Given the description of an element on the screen output the (x, y) to click on. 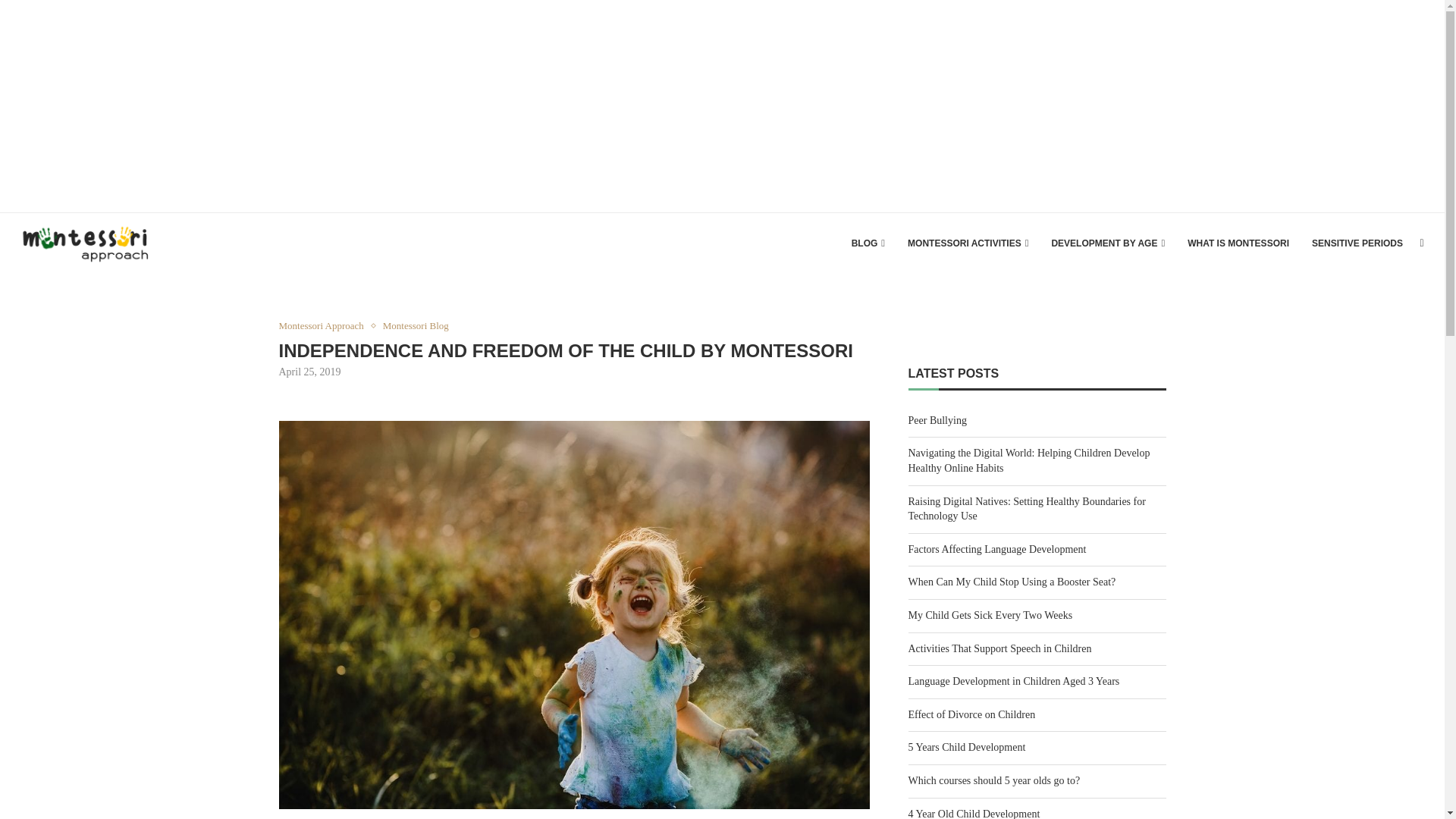
MONTESSORI ACTIVITIES (967, 242)
BLOG (868, 242)
